Given the description of an element on the screen output the (x, y) to click on. 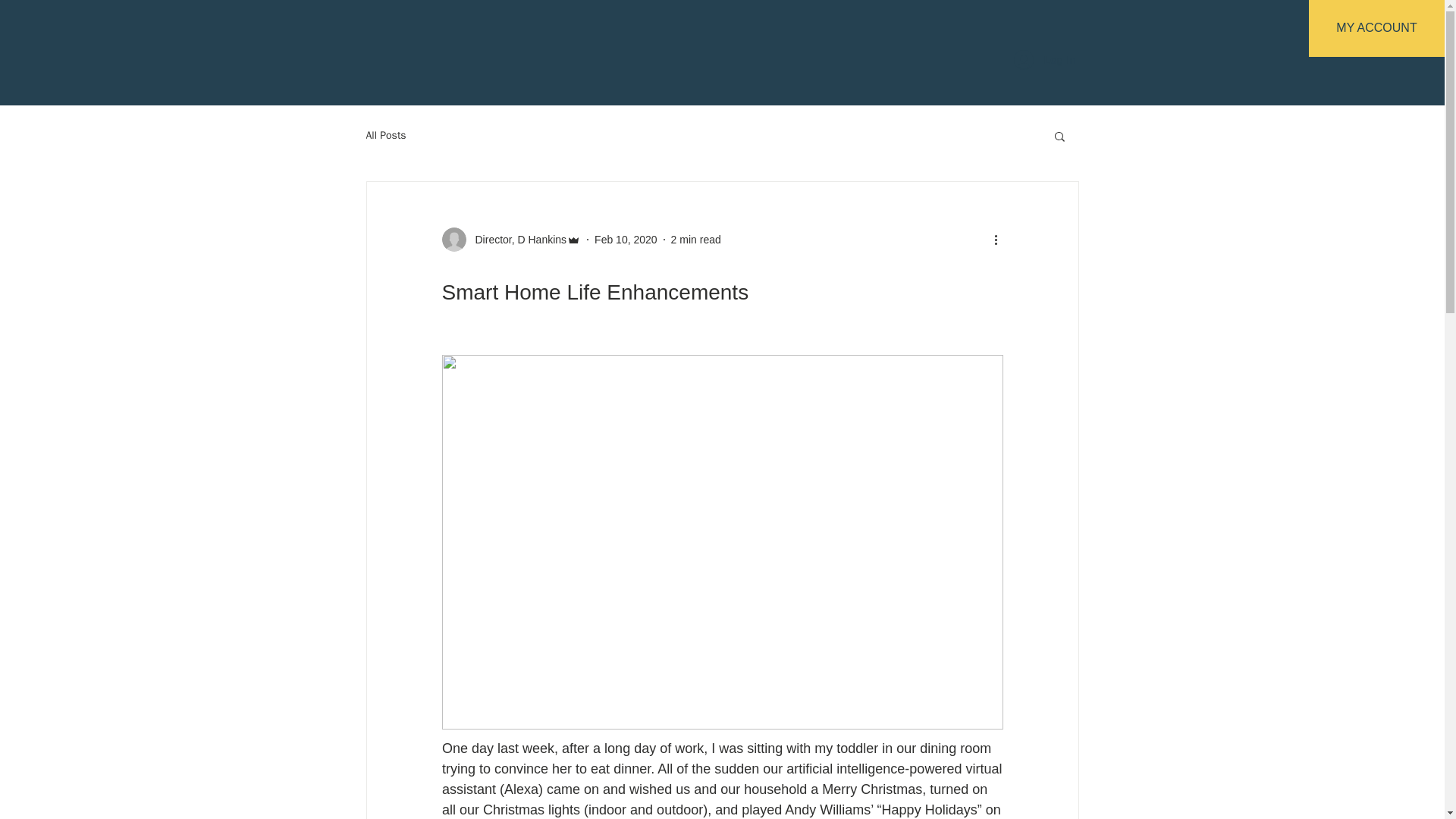
Log In (1044, 59)
Director, D Hankins (515, 239)
Feb 10, 2020 (626, 239)
Director, D Hankins (510, 239)
All Posts (385, 135)
2 min read (695, 239)
